Given the description of an element on the screen output the (x, y) to click on. 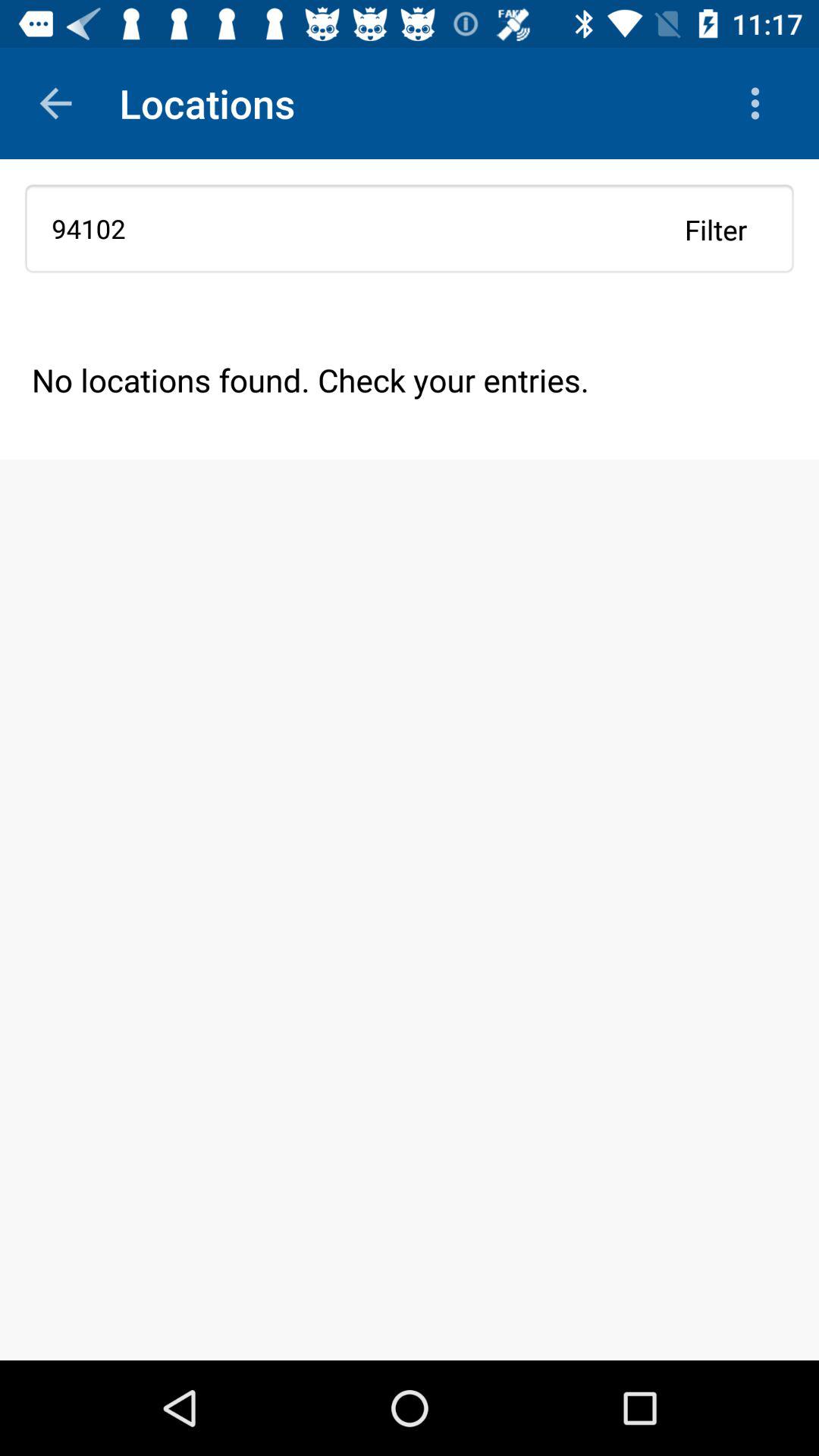
turn off the no locations found app (409, 379)
